Given the description of an element on the screen output the (x, y) to click on. 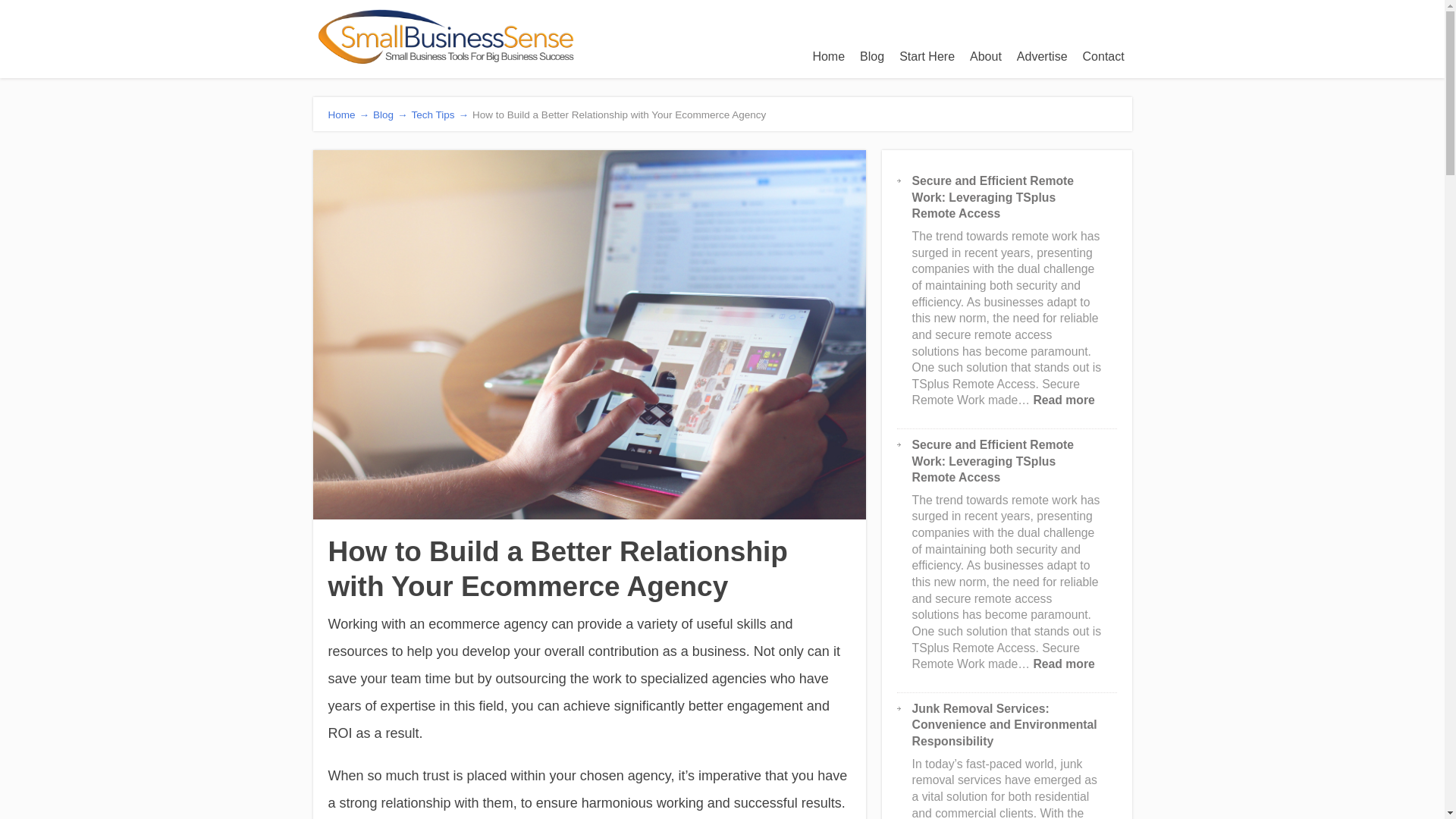
Contact (1103, 56)
Home (828, 56)
Start Here (926, 56)
About (985, 56)
Advertise (1042, 56)
Blog (871, 56)
